Given the description of an element on the screen output the (x, y) to click on. 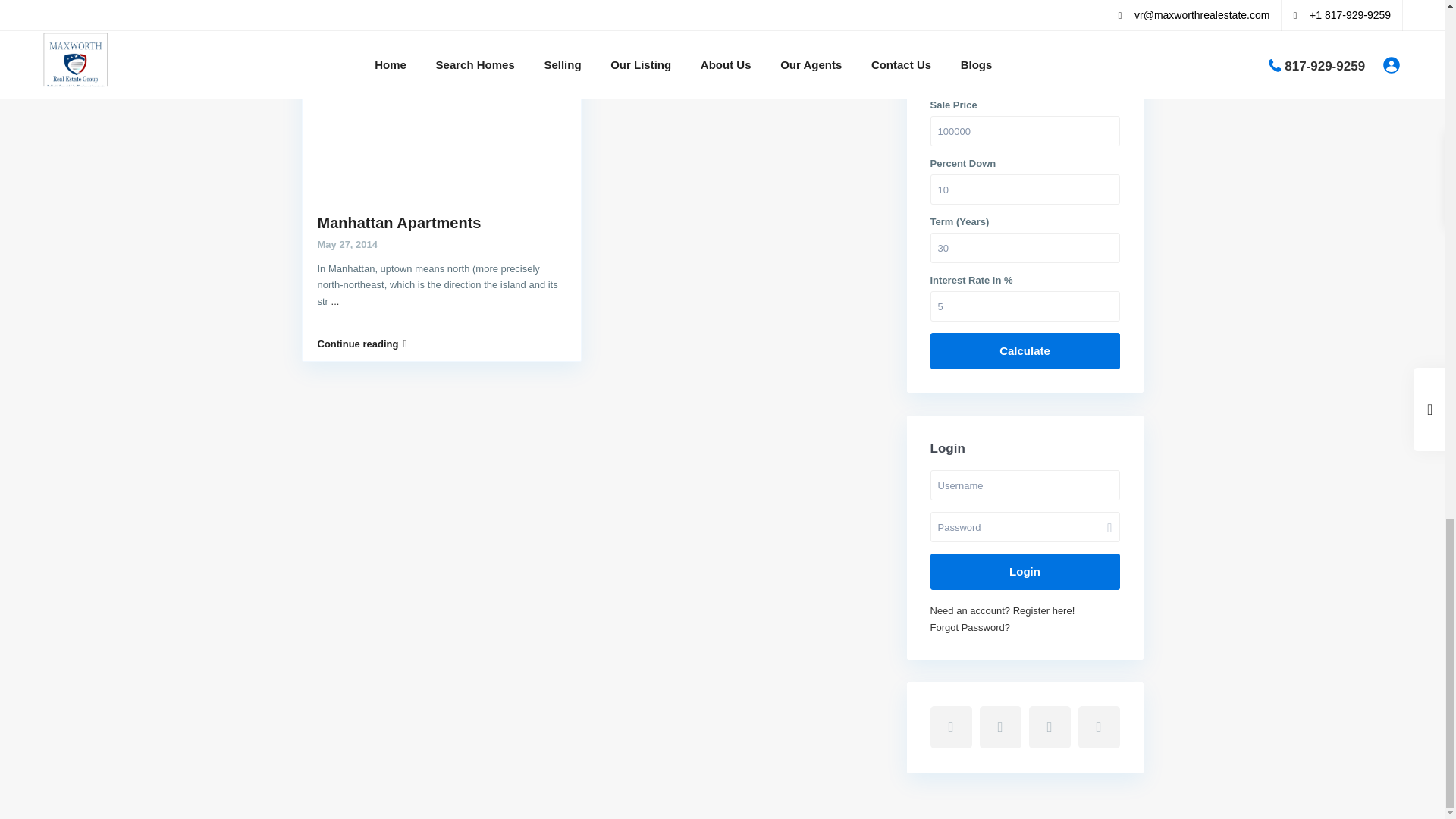
100000 (1024, 131)
10 (1024, 189)
5 (1024, 306)
30 (1024, 247)
